Given the description of an element on the screen output the (x, y) to click on. 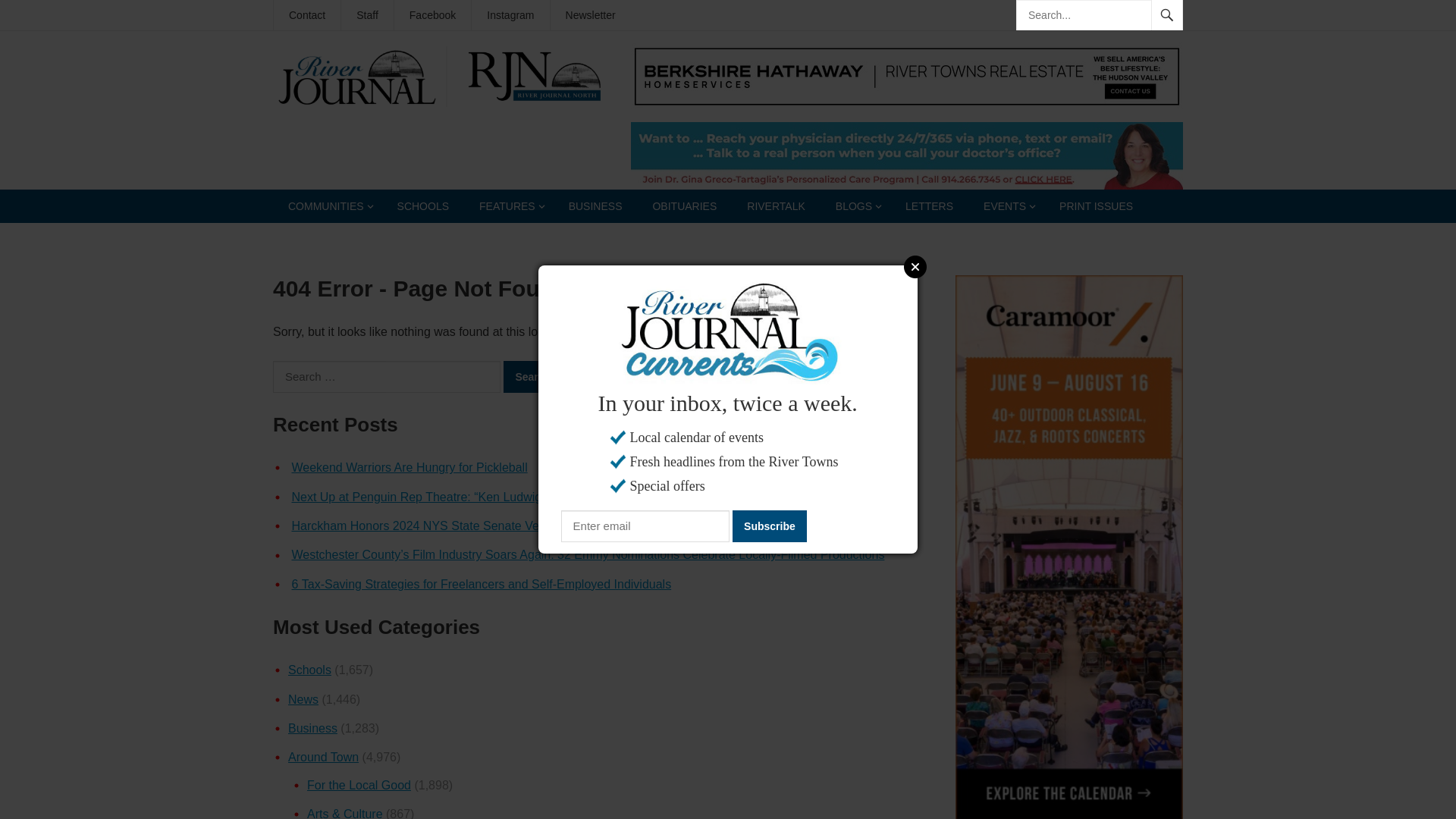
FEATURES (508, 205)
BUSINESS (595, 205)
Facebook (432, 15)
Instagram (509, 15)
SCHOOLS (422, 205)
Staff (366, 15)
Newsletter (590, 15)
COMMUNITIES (327, 205)
Contact (306, 15)
Search (532, 377)
Search (532, 377)
Subscribe (769, 526)
